Given the description of an element on the screen output the (x, y) to click on. 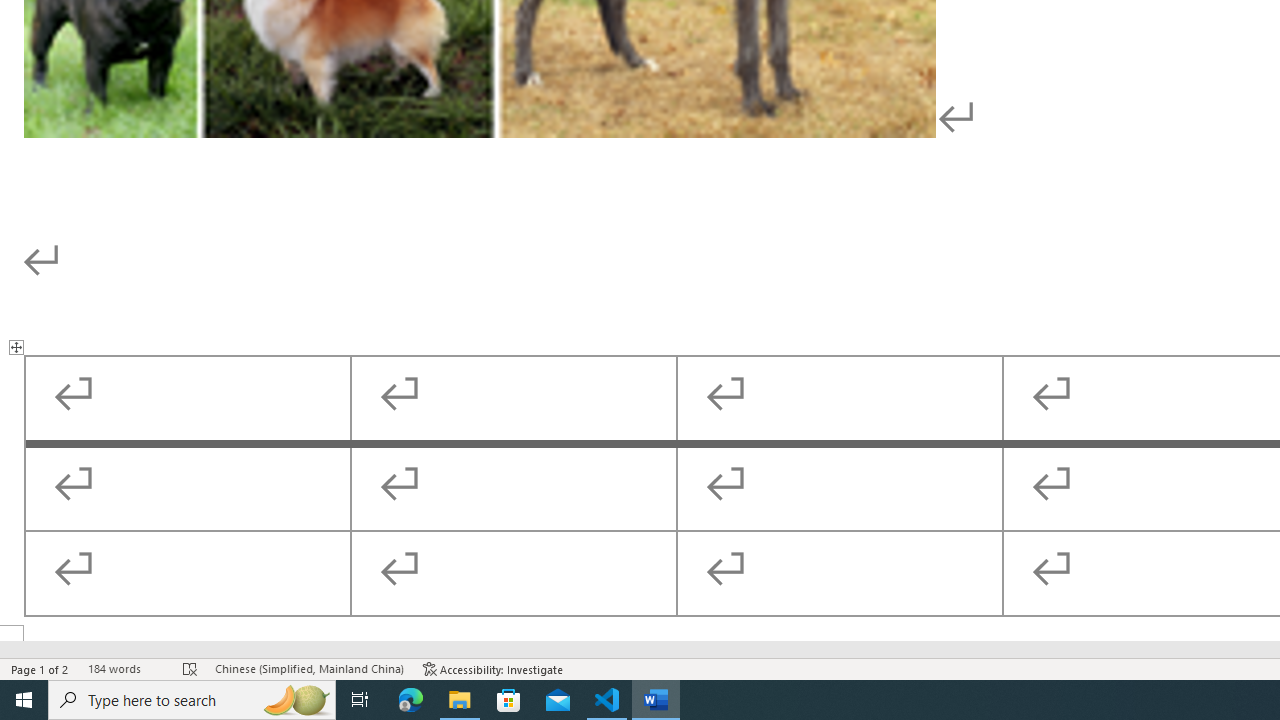
Word Count 184 words (125, 668)
Page Number Page 1 of 2 (39, 668)
